Given the description of an element on the screen output the (x, y) to click on. 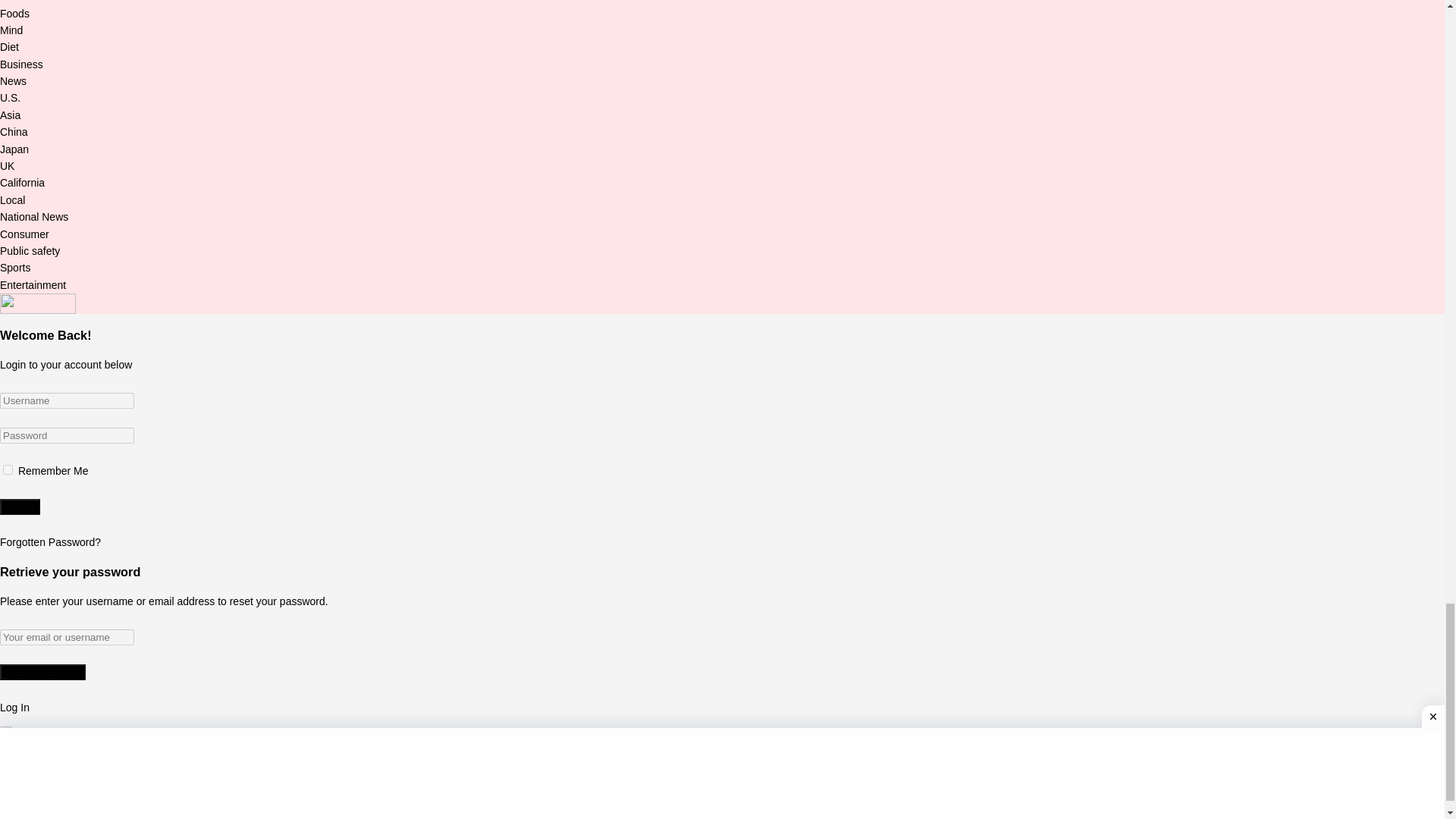
Reset Password (42, 672)
true (7, 470)
Log In (20, 506)
